Given the description of an element on the screen output the (x, y) to click on. 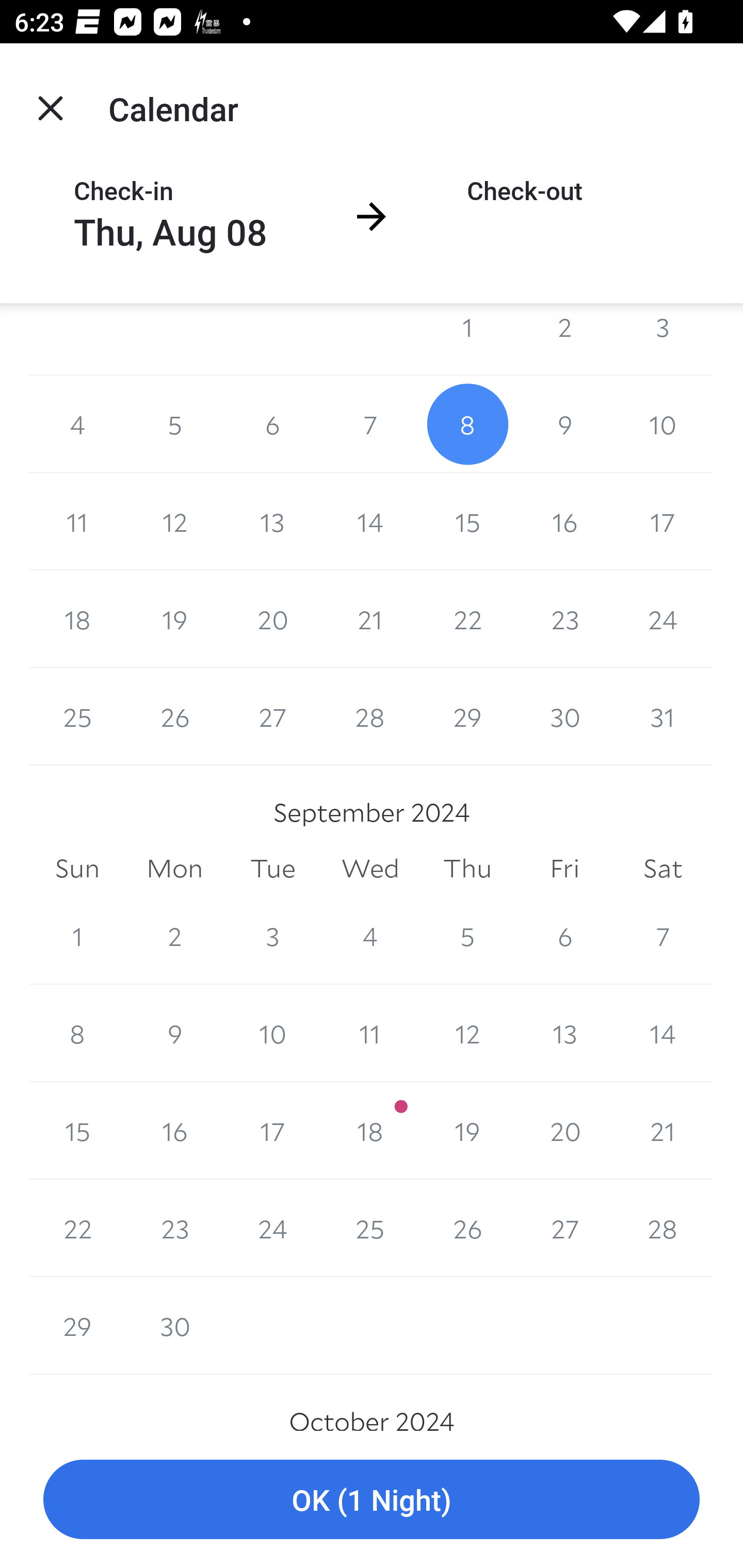
1 1 August 2024 (467, 338)
2 2 August 2024 (564, 338)
3 3 August 2024 (662, 338)
4 4 August 2024 (77, 423)
5 5 August 2024 (174, 423)
6 6 August 2024 (272, 423)
7 7 August 2024 (370, 423)
8 8 August 2024 (467, 423)
9 9 August 2024 (564, 423)
10 10 August 2024 (662, 423)
11 11 August 2024 (77, 521)
12 12 August 2024 (174, 521)
13 13 August 2024 (272, 521)
14 14 August 2024 (370, 521)
15 15 August 2024 (467, 521)
16 16 August 2024 (564, 521)
17 17 August 2024 (662, 521)
18 18 August 2024 (77, 618)
19 19 August 2024 (174, 618)
20 20 August 2024 (272, 618)
21 21 August 2024 (370, 618)
22 22 August 2024 (467, 618)
23 23 August 2024 (564, 618)
24 24 August 2024 (662, 618)
25 25 August 2024 (77, 716)
26 26 August 2024 (174, 716)
27 27 August 2024 (272, 716)
28 28 August 2024 (370, 716)
29 29 August 2024 (467, 716)
30 30 August 2024 (564, 716)
31 31 August 2024 (662, 716)
Sun (77, 868)
Mon (174, 868)
Tue (272, 868)
Wed (370, 868)
Thu (467, 868)
Fri (564, 868)
Sat (662, 868)
1 1 September 2024 (77, 935)
2 2 September 2024 (174, 935)
3 3 September 2024 (272, 935)
4 4 September 2024 (370, 935)
5 5 September 2024 (467, 935)
6 6 September 2024 (564, 935)
7 7 September 2024 (662, 935)
8 8 September 2024 (77, 1032)
9 9 September 2024 (174, 1032)
10 10 September 2024 (272, 1032)
11 11 September 2024 (370, 1032)
12 12 September 2024 (467, 1032)
13 13 September 2024 (564, 1032)
14 14 September 2024 (662, 1032)
15 15 September 2024 (77, 1130)
16 16 September 2024 (174, 1130)
17 17 September 2024 (272, 1130)
18 18 September 2024 (370, 1130)
19 19 September 2024 (467, 1130)
20 20 September 2024 (564, 1130)
21 21 September 2024 (662, 1130)
22 22 September 2024 (77, 1227)
23 23 September 2024 (174, 1227)
24 24 September 2024 (272, 1227)
25 25 September 2024 (370, 1227)
26 26 September 2024 (467, 1227)
27 27 September 2024 (564, 1227)
28 28 September 2024 (662, 1227)
29 29 September 2024 (77, 1325)
30 30 September 2024 (174, 1325)
OK (1 Night) (371, 1499)
